Given the description of an element on the screen output the (x, y) to click on. 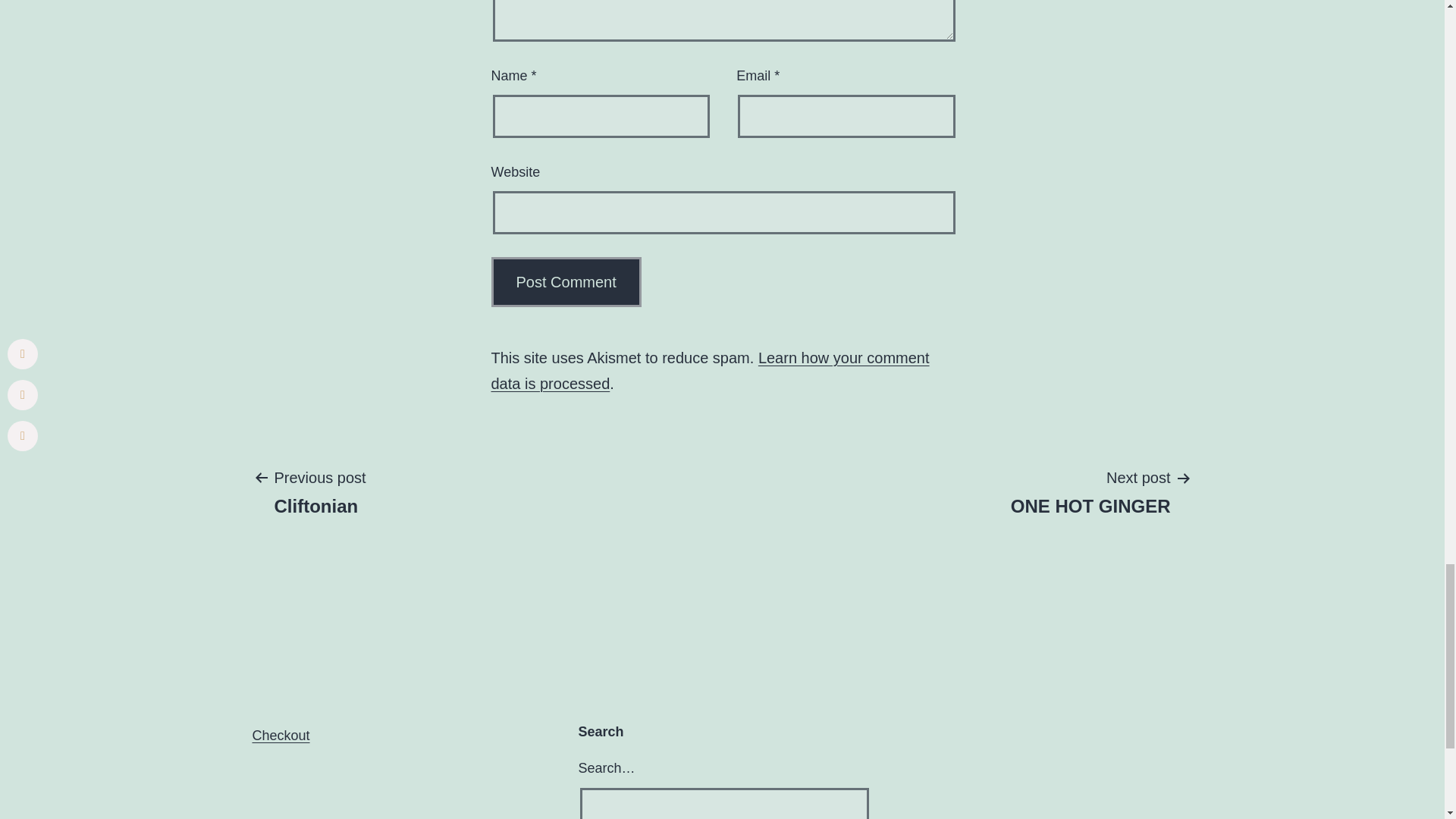
Post Comment (567, 282)
Post Comment (567, 282)
Learn how your comment data is processed (711, 370)
Checkout (1090, 491)
